Given the description of an element on the screen output the (x, y) to click on. 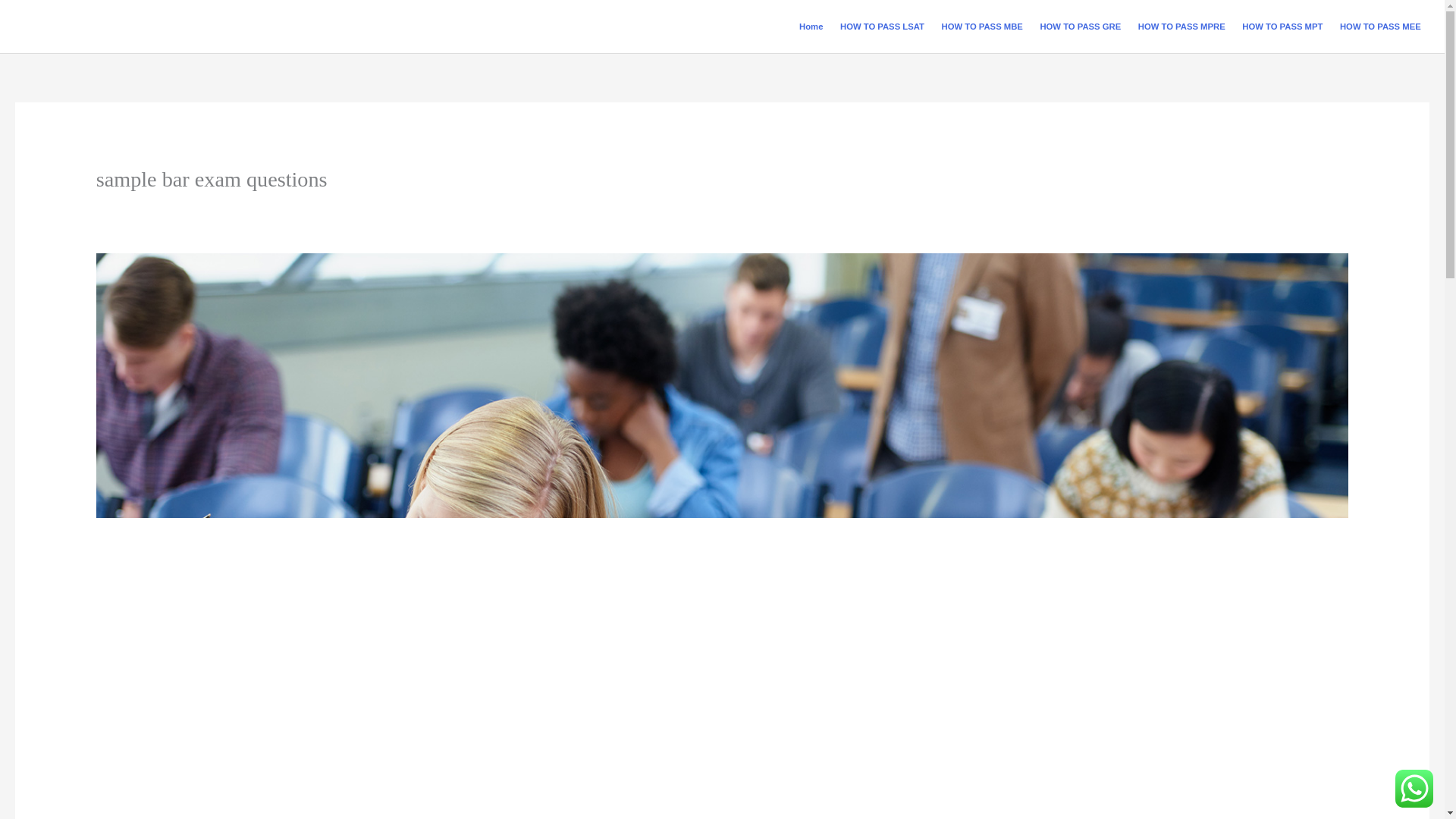
HOW TO PASS MPT (1282, 26)
HOW TO PASS MPRE (1181, 26)
HOW TO PASS GRE (1079, 26)
HOW TO PASS MEE (1380, 26)
HOW TO PASS MBE (981, 26)
HOW TO PASS LSAT (882, 26)
